Given the description of an element on the screen output the (x, y) to click on. 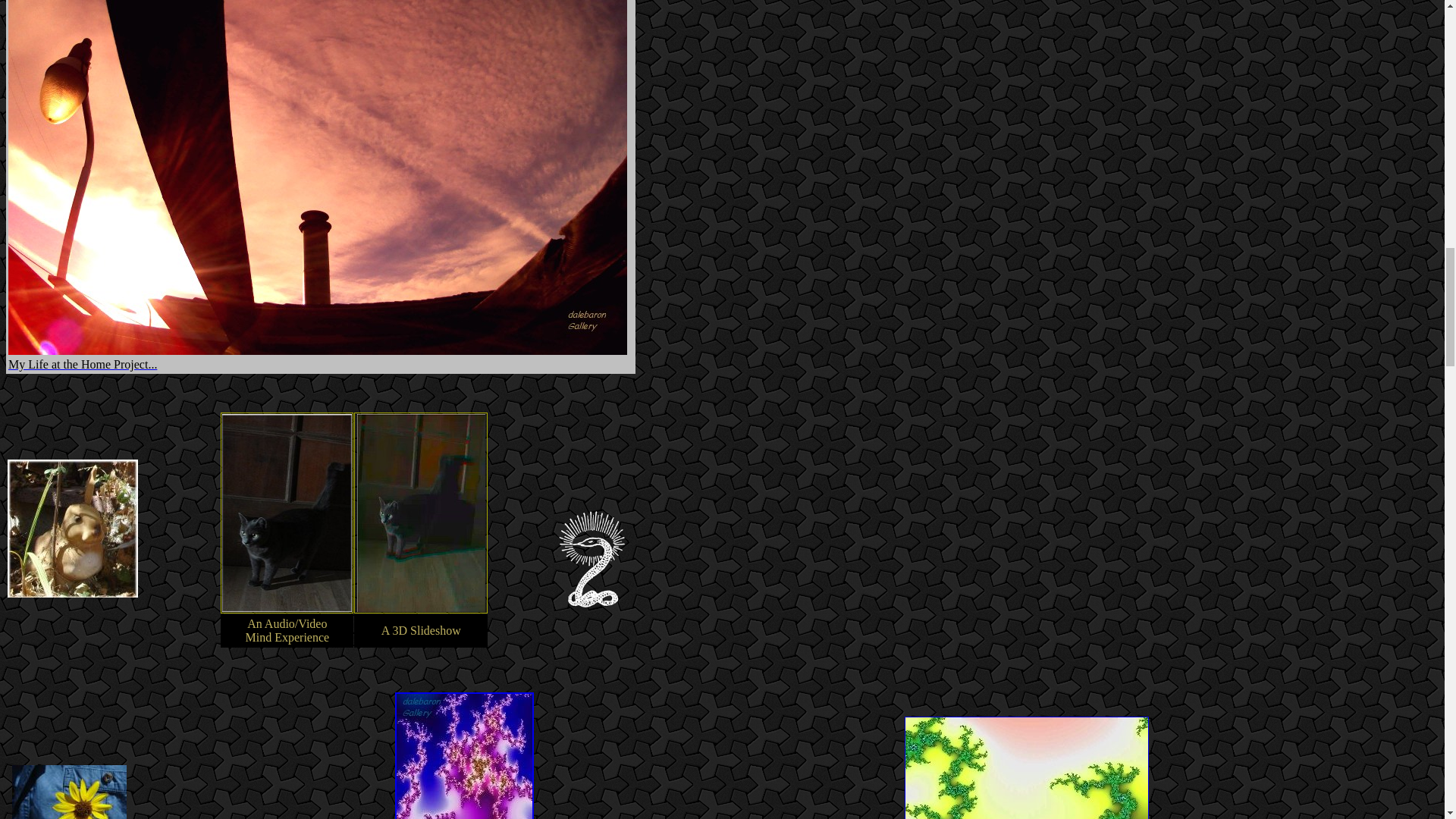
Play the Video - Living Room Door (287, 607)
Play 3d Demo Video (420, 607)
My Life at the Home Project... (82, 364)
